Given the description of an element on the screen output the (x, y) to click on. 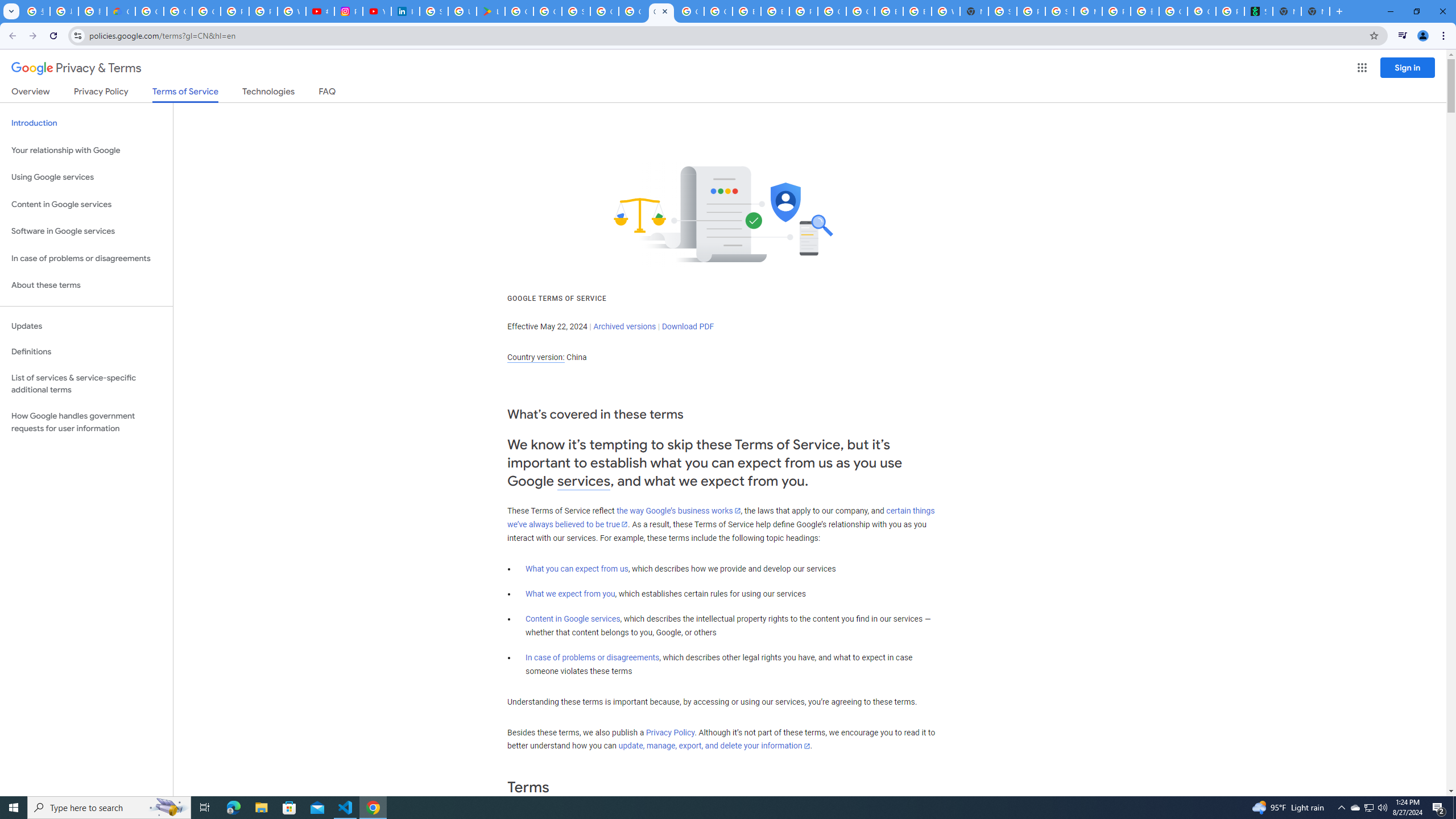
Browse Chrome as a guest - Computer - Google Chrome Help (917, 11)
New Tab (973, 11)
Privacy Help Center - Policies Help (263, 11)
Google Workspace - Specific Terms (547, 11)
Google Cloud Platform (831, 11)
Download PDF (687, 326)
